Given the description of an element on the screen output the (x, y) to click on. 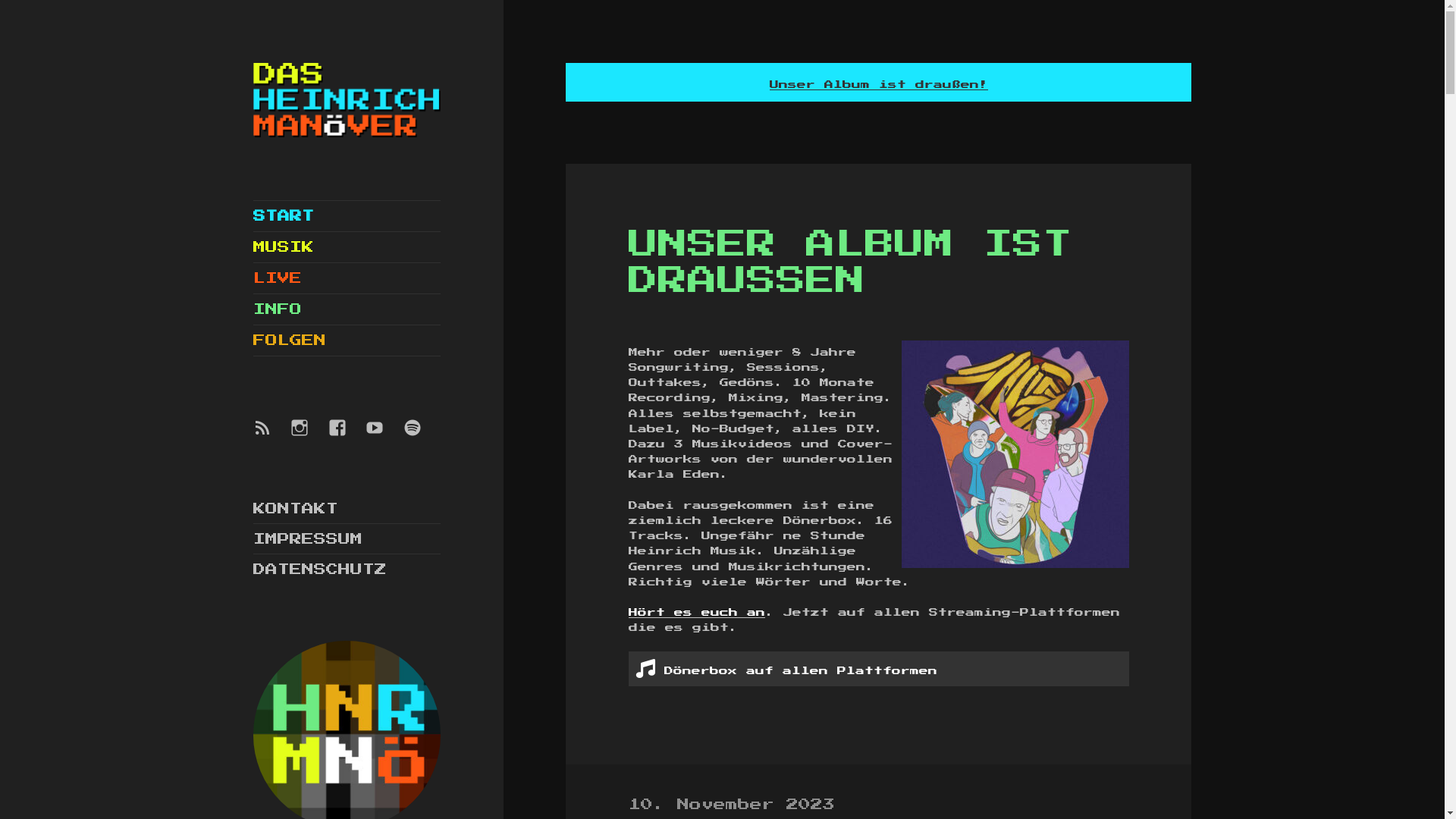
FOLGEN Element type: text (347, 340)
10. November 2023 Element type: text (731, 806)
UNSER ALBUM IST DRAUSSEN Element type: text (850, 262)
KONTAKT Element type: text (295, 508)
YOUTUBE Element type: text (383, 436)
INFO Element type: text (347, 309)
MUSIK Element type: text (347, 247)
INSTAGRAM Element type: text (308, 436)
IMPRESSUM Element type: text (307, 539)
SPOTIFY Element type: text (421, 436)
LIVE Element type: text (347, 278)
START Element type: text (347, 215)
RSS Element type: text (271, 436)
FACEBOOK Element type: text (346, 436)
DATENSCHUTZ Element type: text (319, 569)
